Given the description of an element on the screen output the (x, y) to click on. 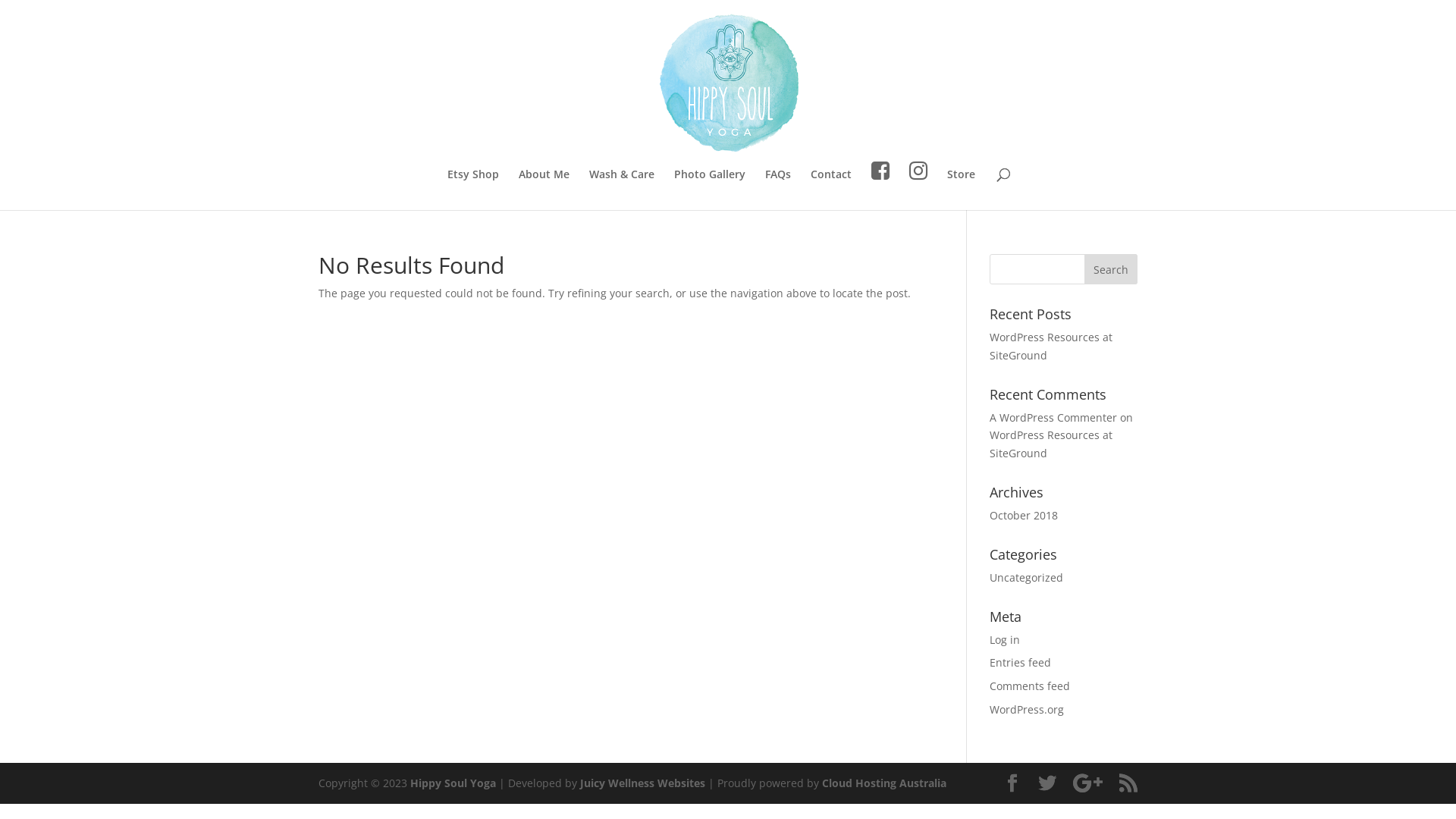
Juicy Wellness Websites Element type: text (642, 782)
Cloud Hosting Australia Element type: text (884, 782)
Store Element type: text (961, 188)
Etsy Shop Element type: text (472, 188)
Contact Element type: text (830, 188)
WordPress.org Element type: text (1026, 709)
Wash & Care Element type: text (621, 188)
WordPress Resources at SiteGround Element type: text (1050, 345)
Search Element type: text (1110, 269)
A WordPress Commenter Element type: text (1053, 417)
Hippy Soul Yoga Element type: text (452, 782)
FAQs Element type: text (777, 188)
WordPress Resources at SiteGround Element type: text (1050, 443)
Uncategorized Element type: text (1026, 577)
Photo Gallery Element type: text (709, 188)
About Me Element type: text (543, 188)
Comments feed Element type: text (1029, 685)
October 2018 Element type: text (1023, 515)
Entries feed Element type: text (1020, 662)
Log in Element type: text (1004, 639)
